Given the description of an element on the screen output the (x, y) to click on. 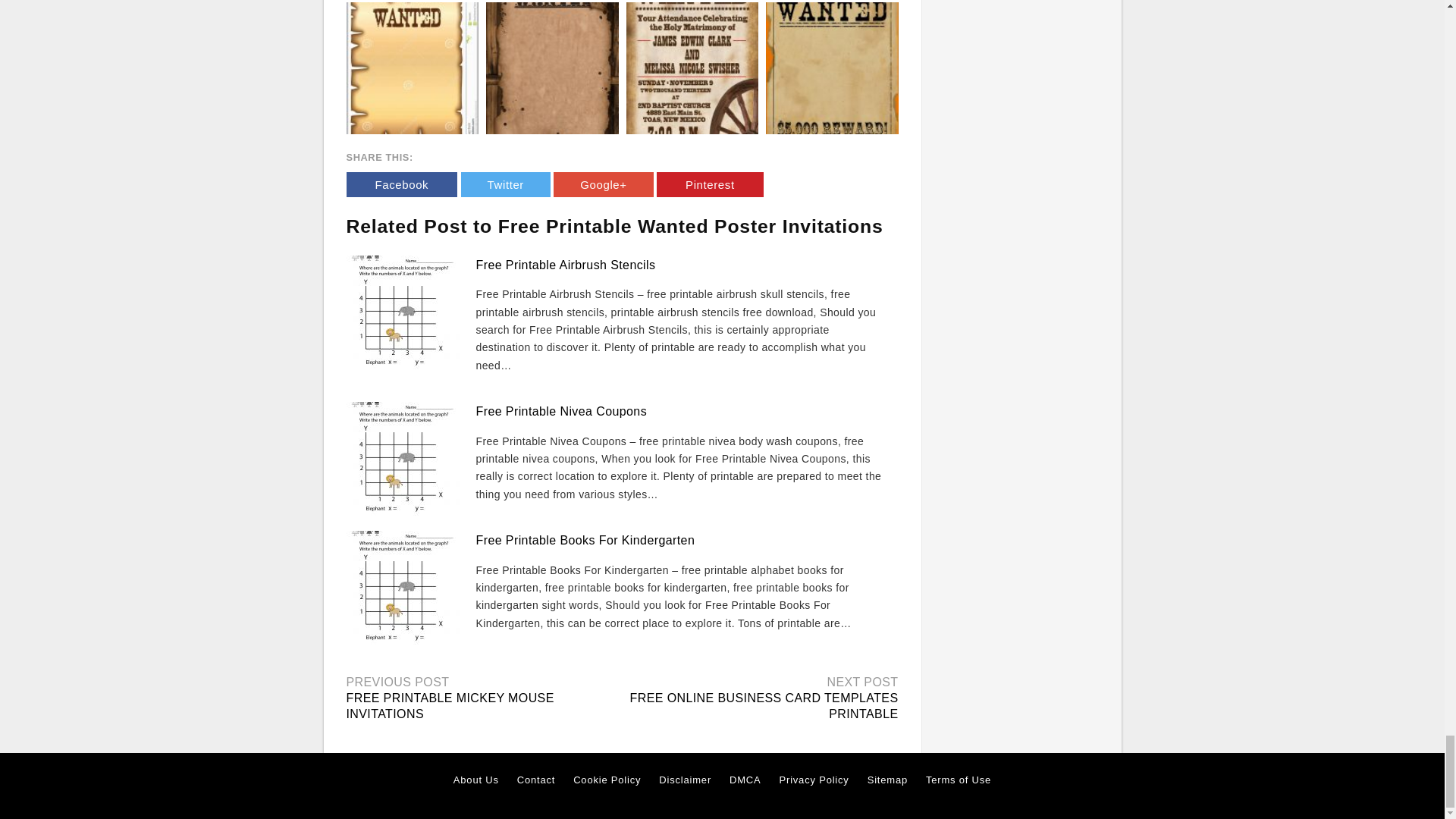
FREE ONLINE BUSINESS CARD TEMPLATES PRINTABLE (764, 705)
Pinterest (709, 184)
Free Printable Books For Kindergarten (585, 540)
Twitter (505, 184)
Facebook (401, 184)
Free Printable Airbrush Stencils (566, 264)
Free Printable Nivea Coupons (561, 410)
FREE PRINTABLE MICKEY MOUSE INVITATIONS (449, 705)
